Given the description of an element on the screen output the (x, y) to click on. 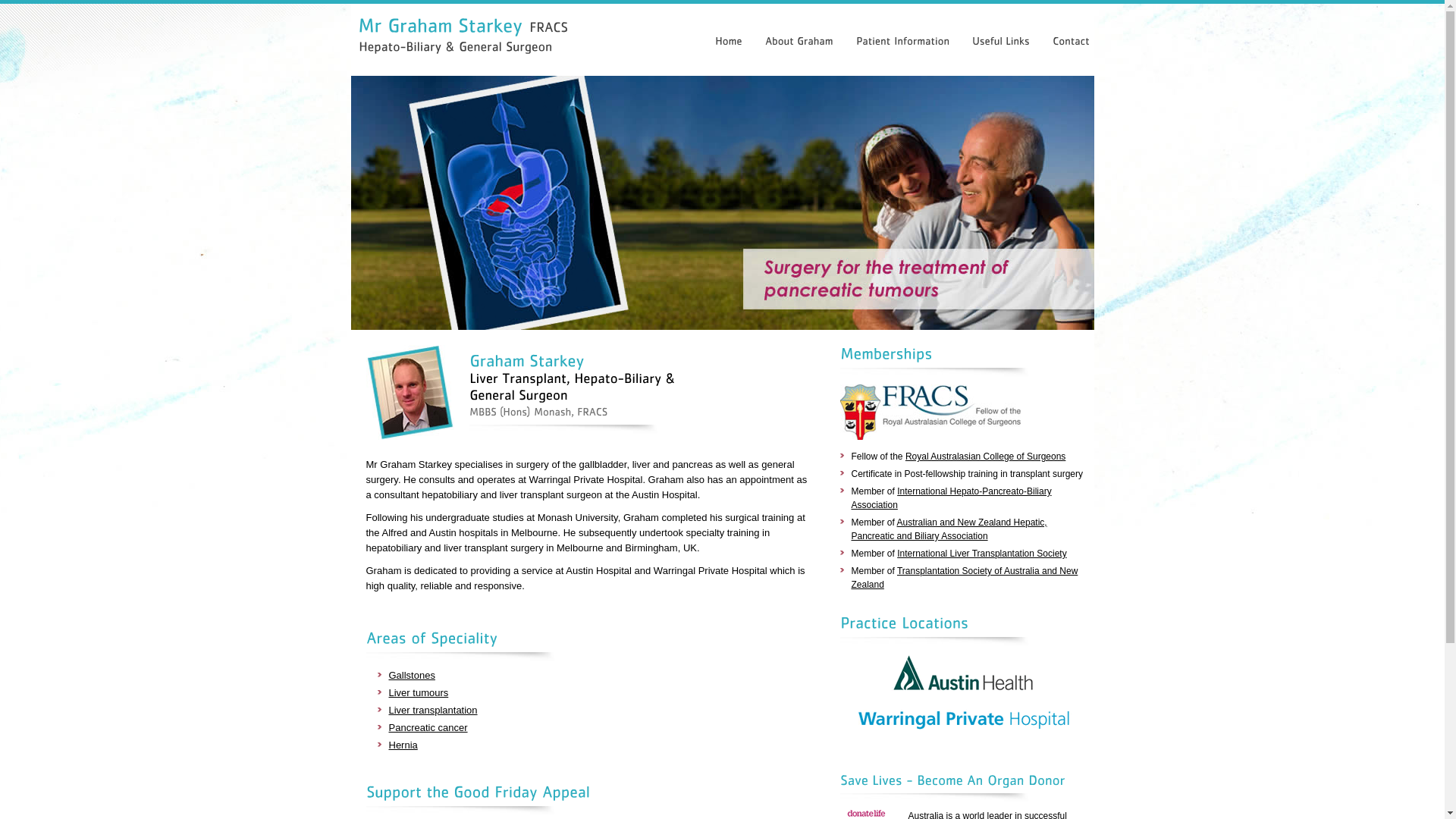
Royal Australasian College of Surgeons Element type: text (985, 456)
International Hepato-Pancreato-Biliary Association Element type: text (950, 498)
Liver transplantation Element type: text (432, 709)
Hernia Element type: text (402, 744)
International Liver Transplantation Society Element type: text (981, 553)
Gallstones Element type: text (411, 674)
Liver tumours Element type: text (418, 692)
Pancreatic cancer Element type: text (427, 727)
Transplantation Society of Australia and New Zealand Element type: text (963, 577)
